Given the description of an element on the screen output the (x, y) to click on. 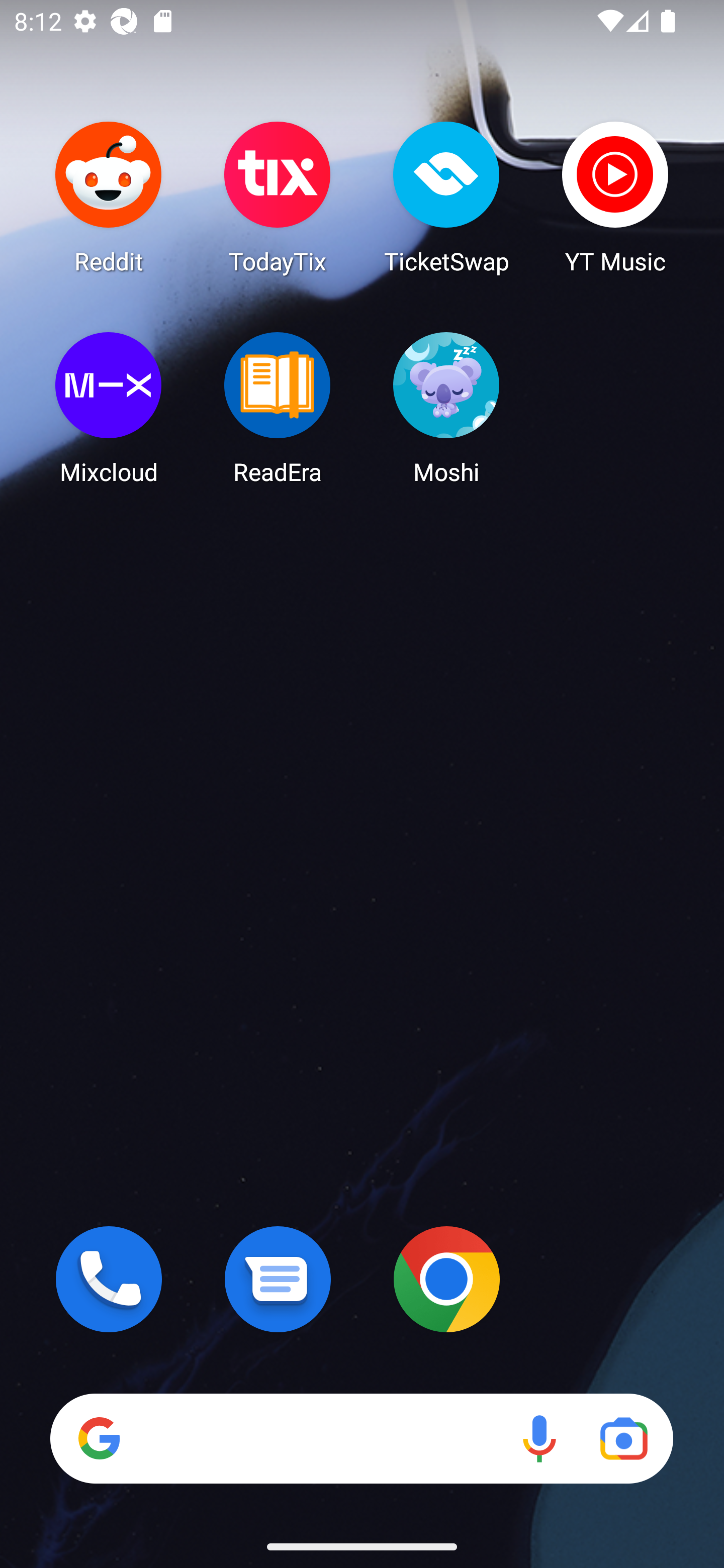
Reddit (108, 196)
TodayTix (277, 196)
TicketSwap (445, 196)
YT Music (615, 196)
Mixcloud (108, 407)
ReadEra (277, 407)
Moshi (445, 407)
Phone (108, 1279)
Messages (277, 1279)
Chrome (446, 1279)
Voice search (539, 1438)
Google Lens (623, 1438)
